Given the description of an element on the screen output the (x, y) to click on. 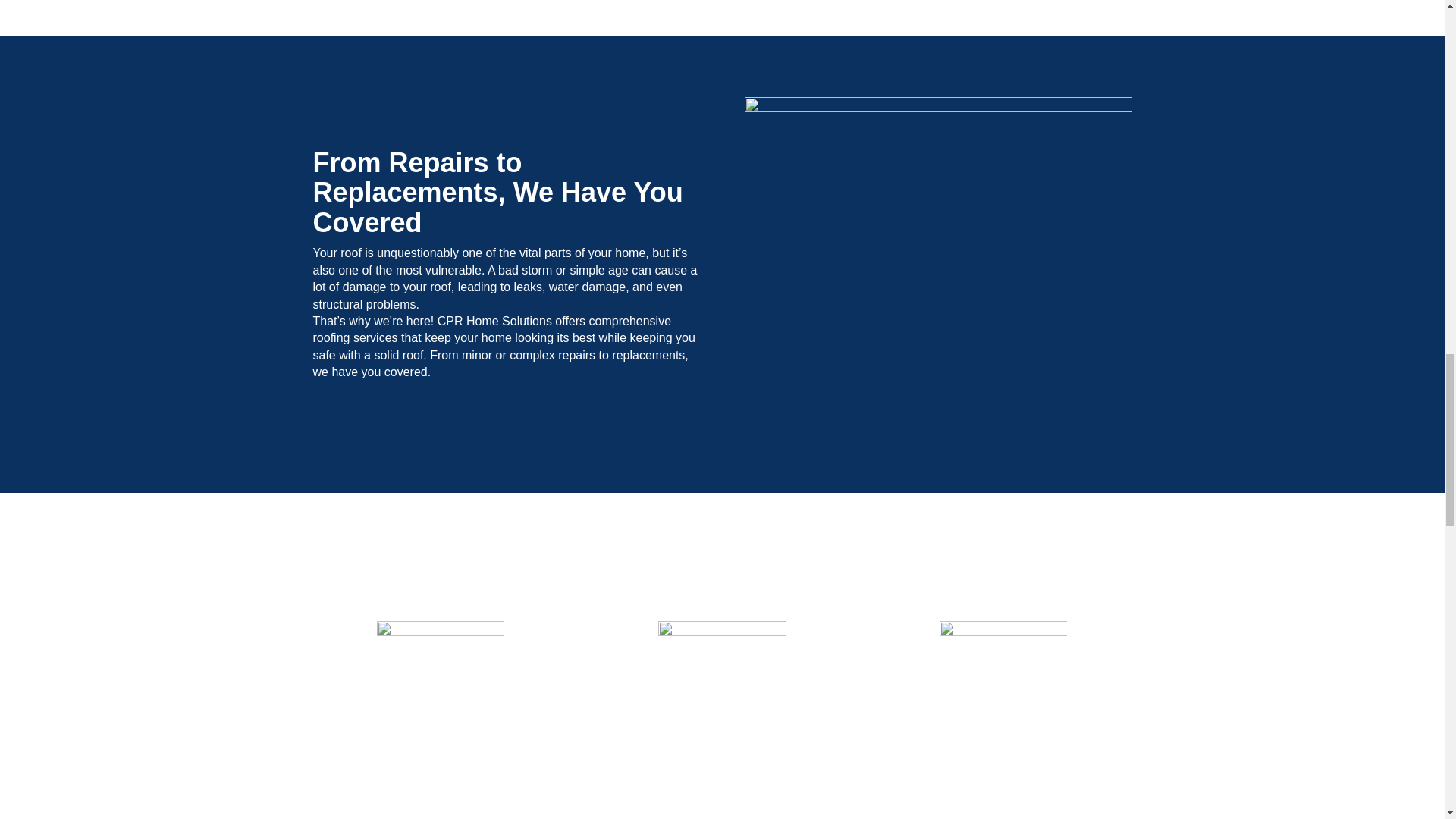
Group 8 (1003, 684)
Group 10 (722, 684)
roofing-s4 (937, 263)
Group 9 (440, 684)
